Given the description of an element on the screen output the (x, y) to click on. 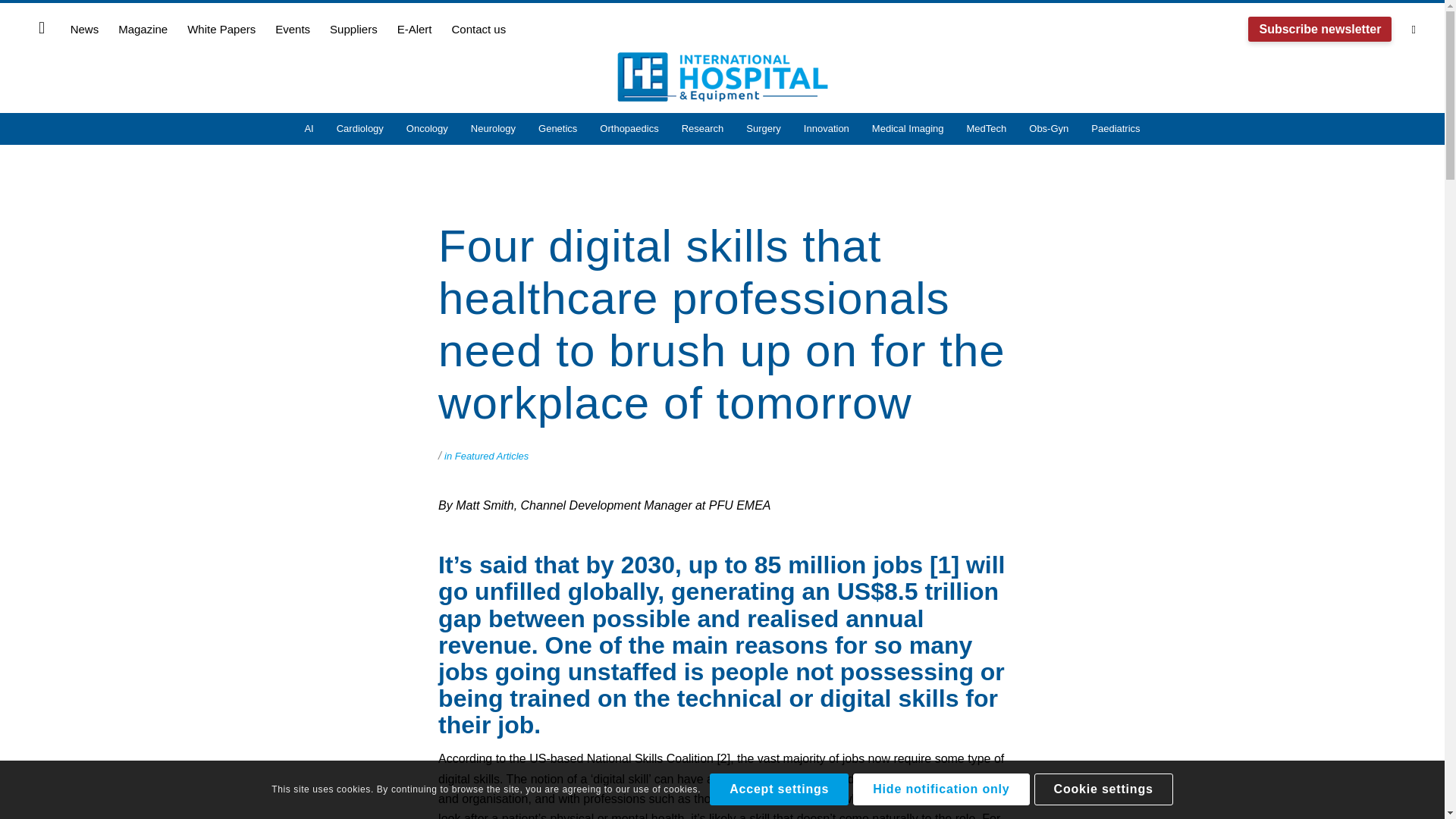
Subscribe newsletter (1319, 29)
Orthopaedics (628, 128)
AI (308, 128)
Featured Articles (491, 455)
Contact us (478, 29)
E-Alert (414, 29)
Surgery (763, 128)
Genetics (557, 128)
Paediatrics (1115, 128)
